Given the description of an element on the screen output the (x, y) to click on. 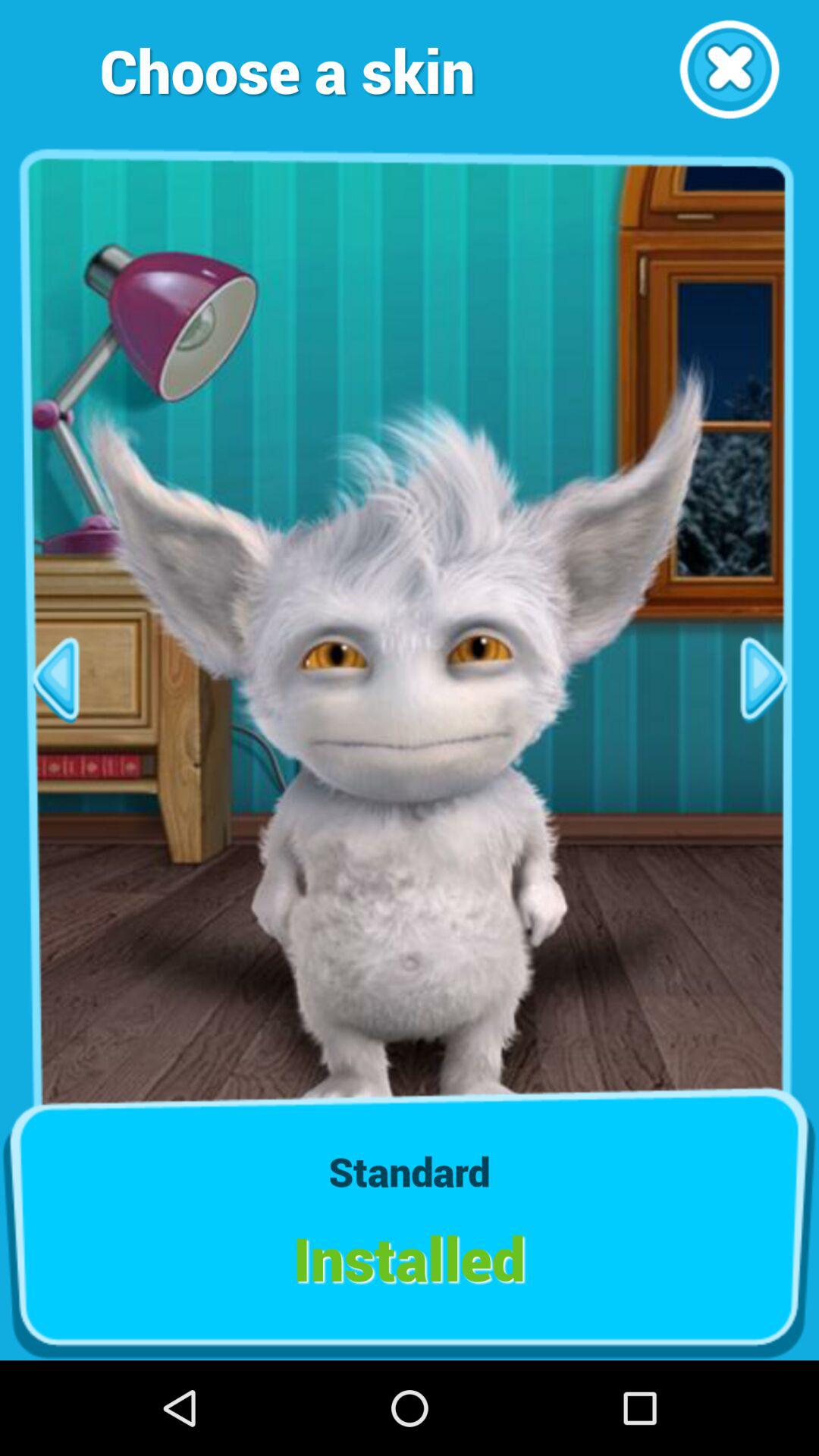
close option (729, 69)
